Given the description of an element on the screen output the (x, y) to click on. 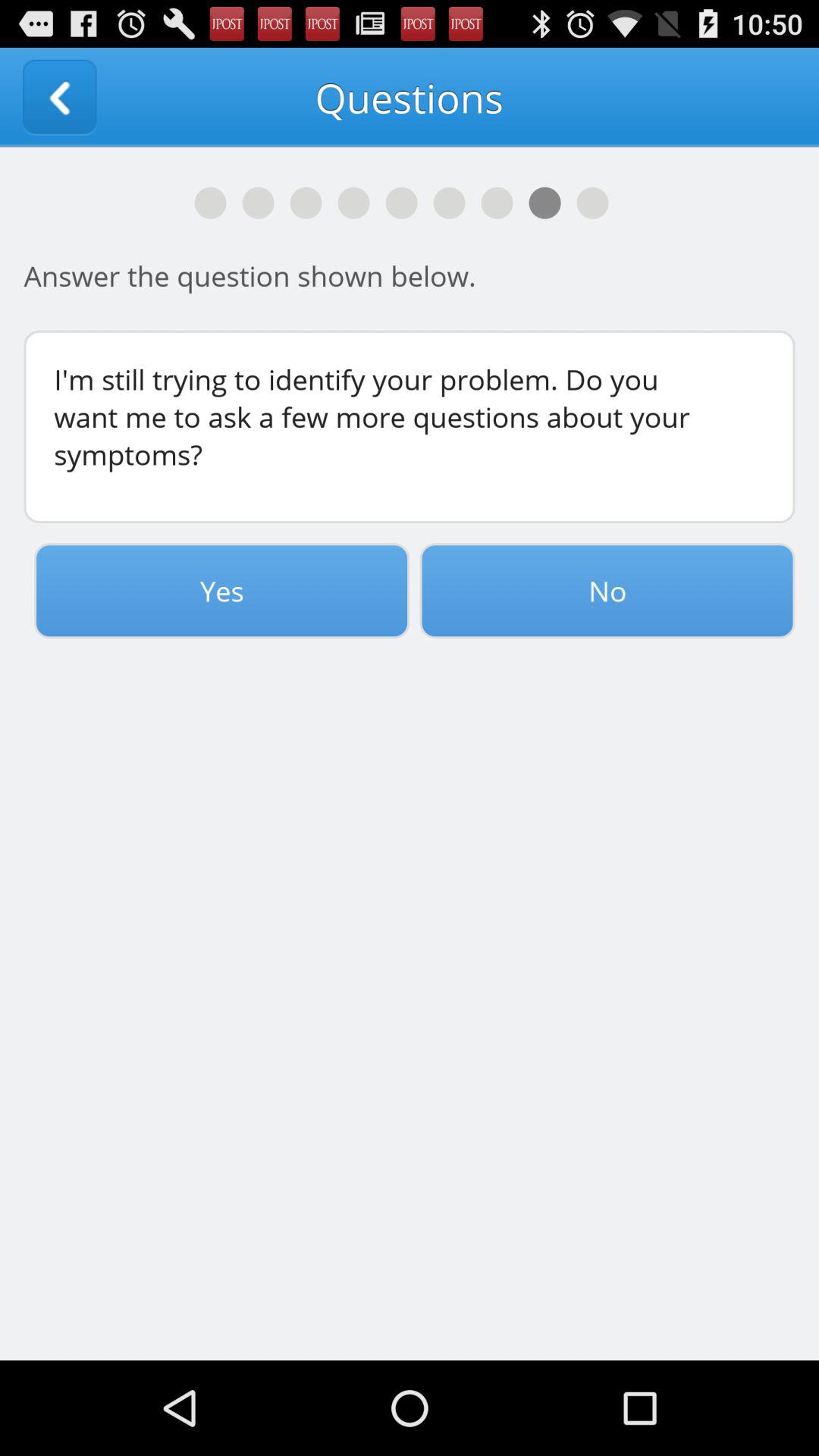
tap the no button (607, 590)
